Given the description of an element on the screen output the (x, y) to click on. 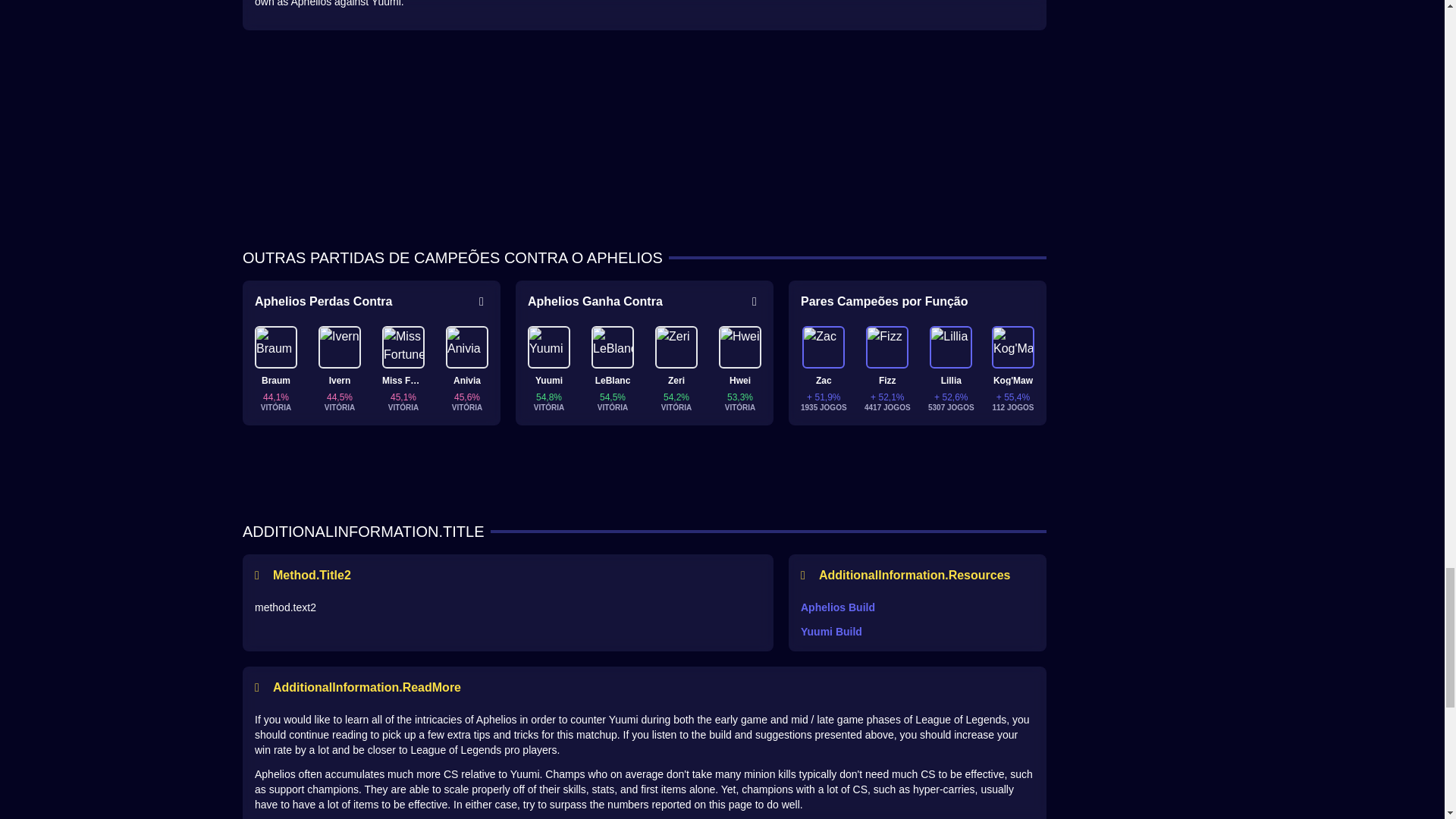
Yuumi Build (916, 631)
Aphelios Build (916, 607)
